Given the description of an element on the screen output the (x, y) to click on. 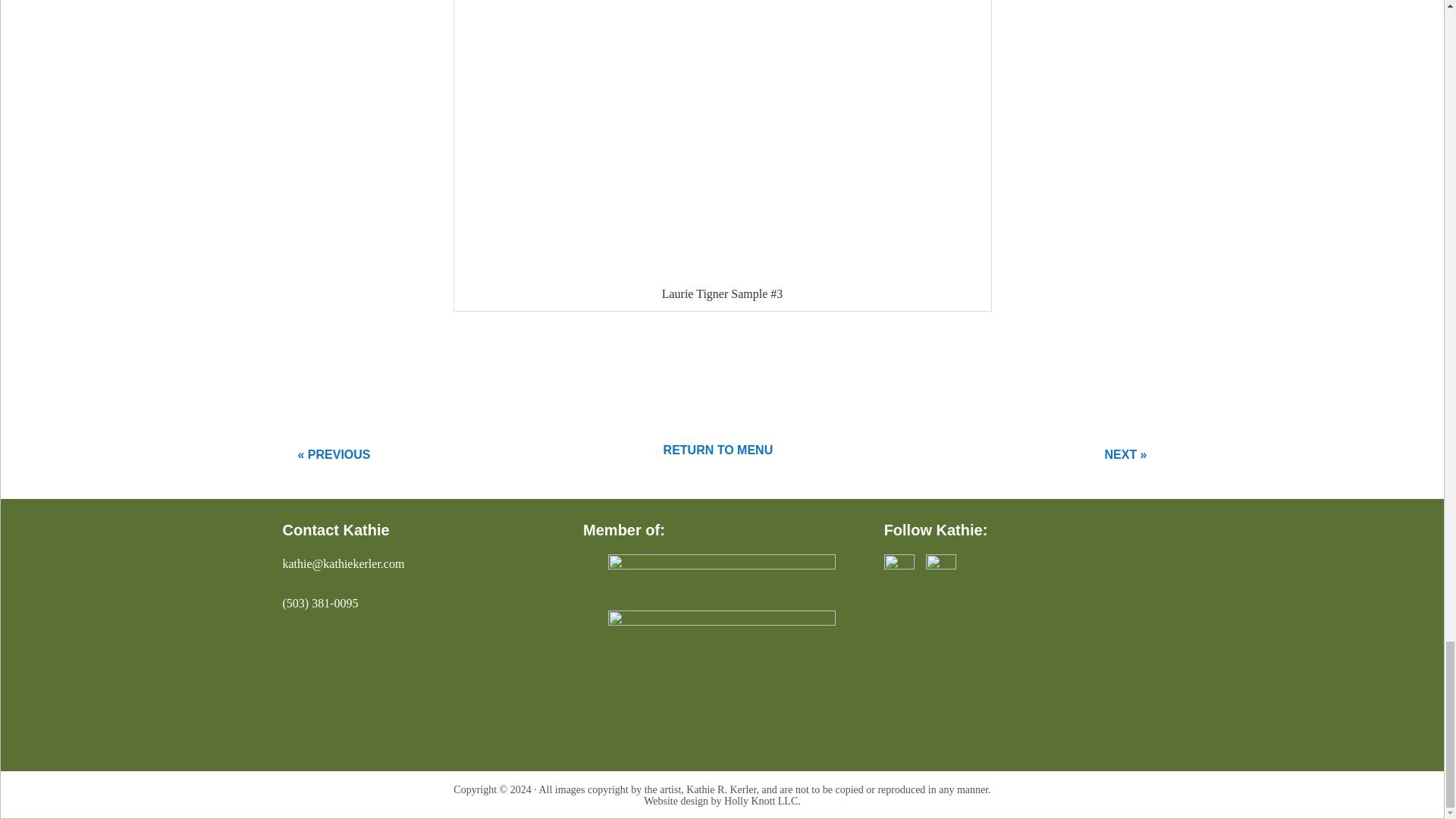
RETURN TO MENU (718, 449)
Holly Knott LLC (760, 800)
